Given the description of an element on the screen output the (x, y) to click on. 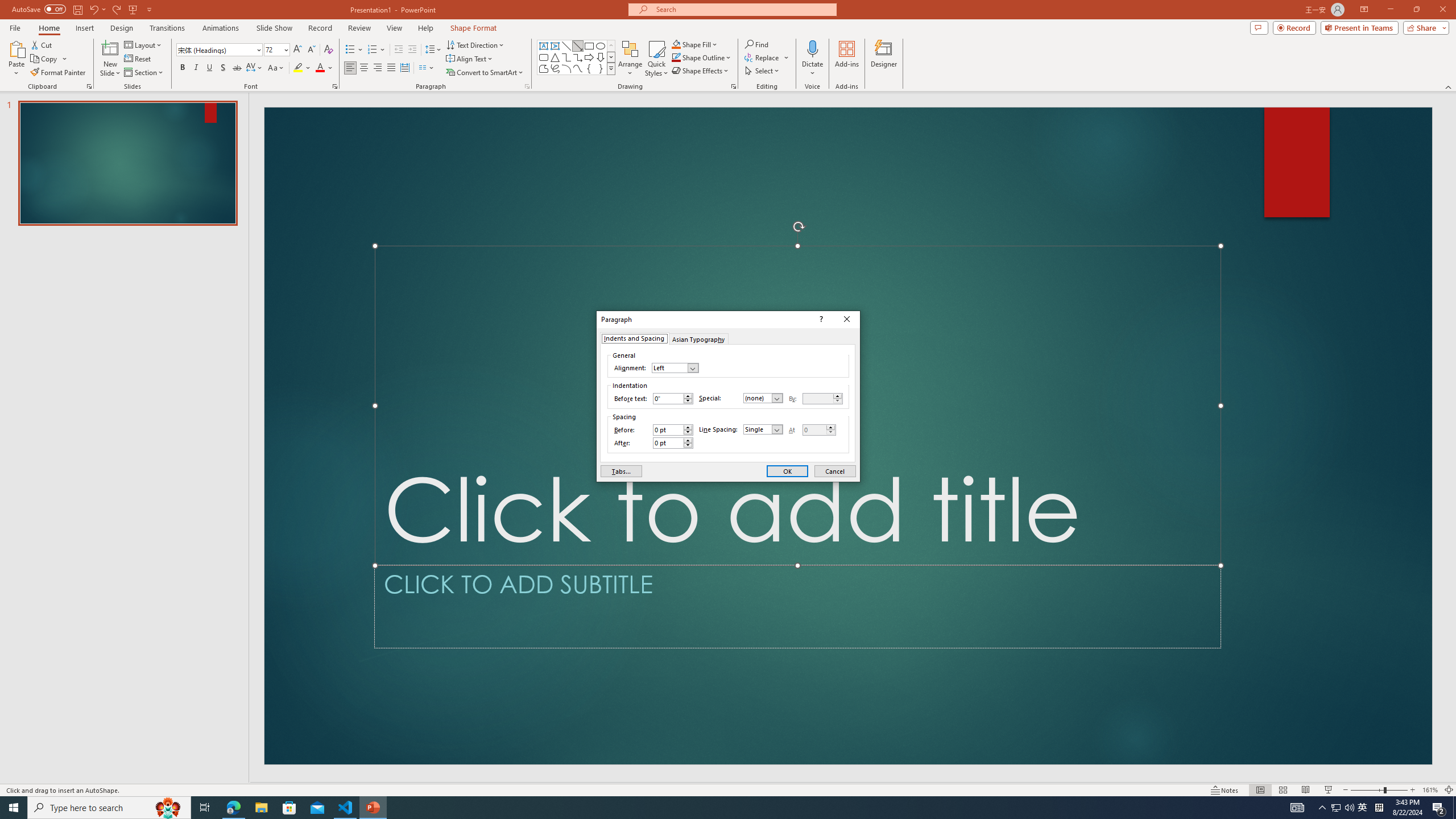
Indents and Spacing (633, 337)
By (817, 398)
Before text (667, 398)
Asian Typography (698, 337)
